Given the description of an element on the screen output the (x, y) to click on. 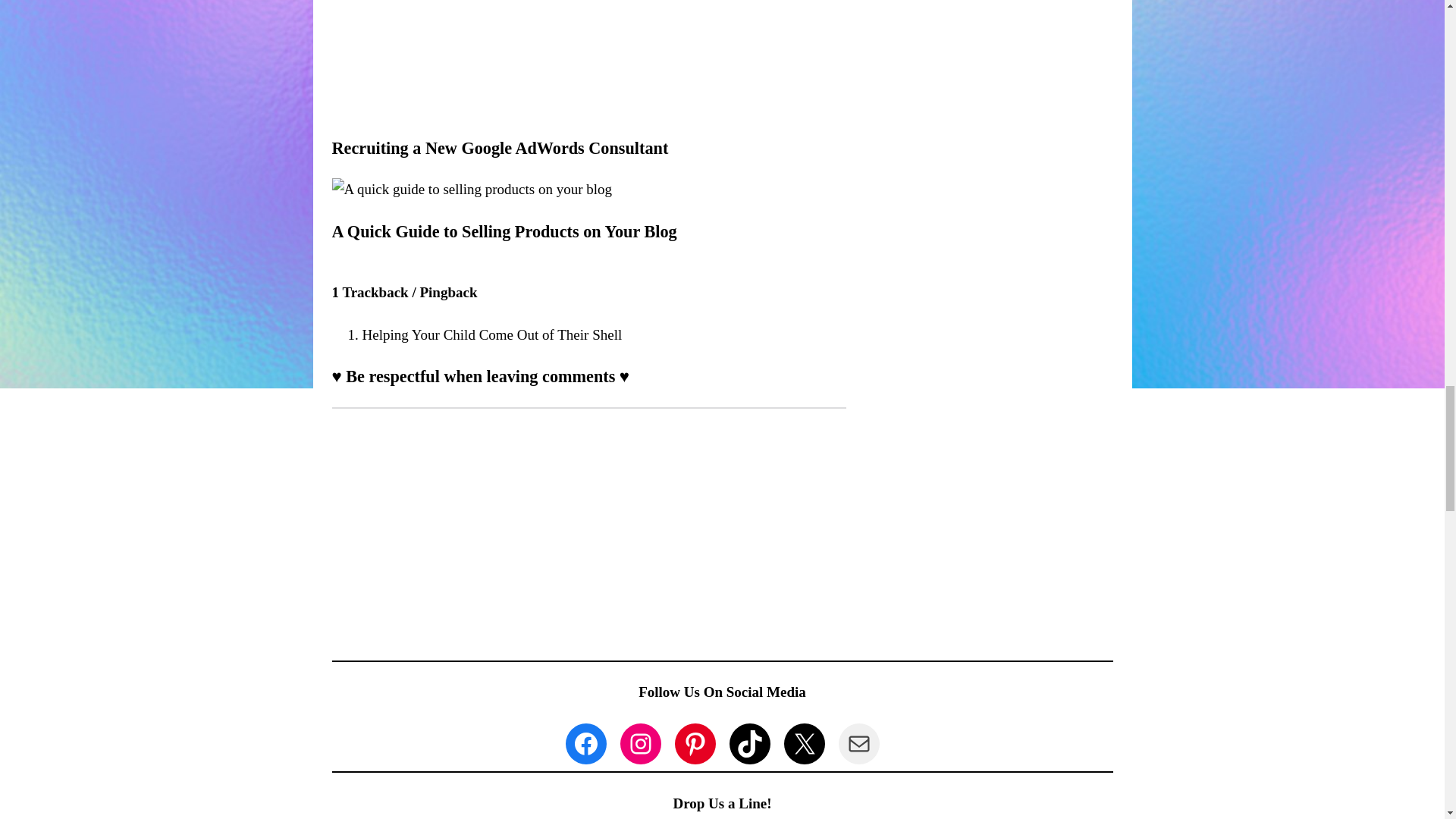
Recruiting a New Google AdWords Consultant (499, 148)
Comment Form (588, 526)
Recruiting a New Google AdWords Consultant (455, 105)
A Quick Guide to Selling Products on Your Blog (471, 188)
A Quick Guide to Selling Products on Your Blog (504, 230)
